Given the description of an element on the screen output the (x, y) to click on. 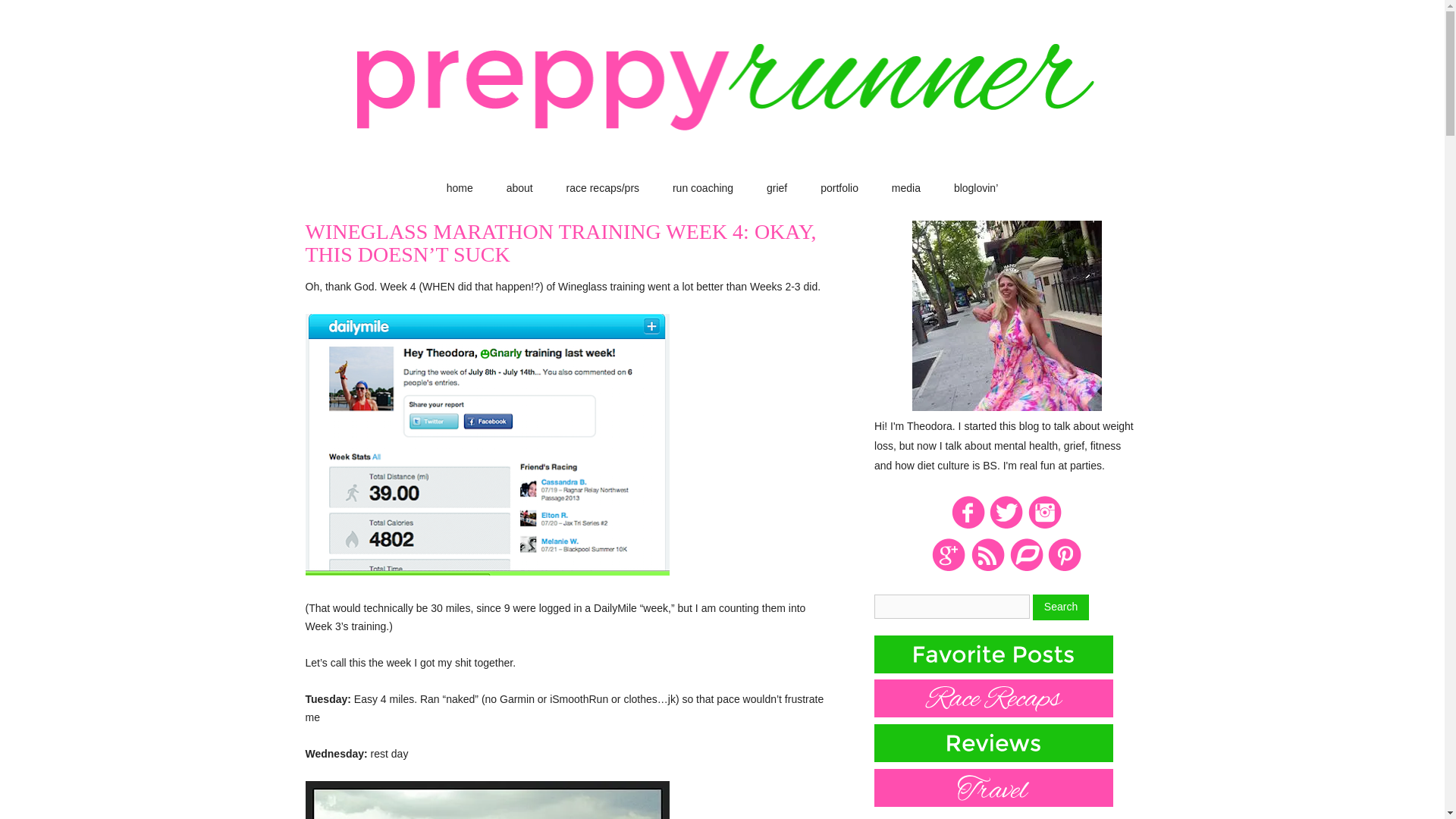
home (459, 188)
skip to content (756, 185)
RSS Feed (987, 568)
Instagram (1044, 526)
Twitter (1006, 526)
run coaching (702, 188)
Skip to content (756, 185)
Facebook (967, 526)
Google Plus (948, 568)
media (905, 188)
about (519, 188)
Running Training Log (1026, 568)
Search (1060, 606)
portfolio (840, 188)
